Given the description of an element on the screen output the (x, y) to click on. 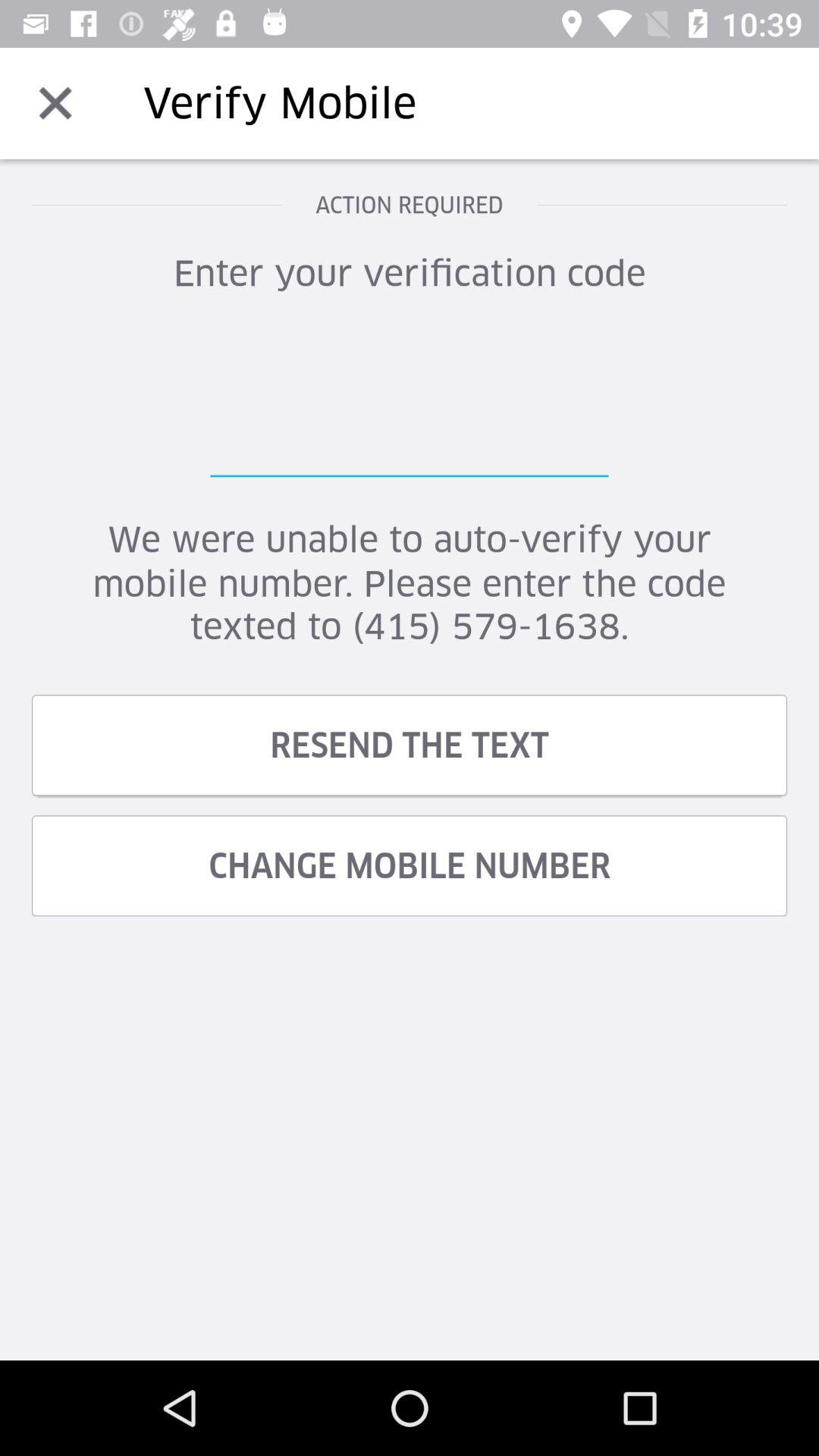
enter verification code (409, 401)
